Given the description of an element on the screen output the (x, y) to click on. 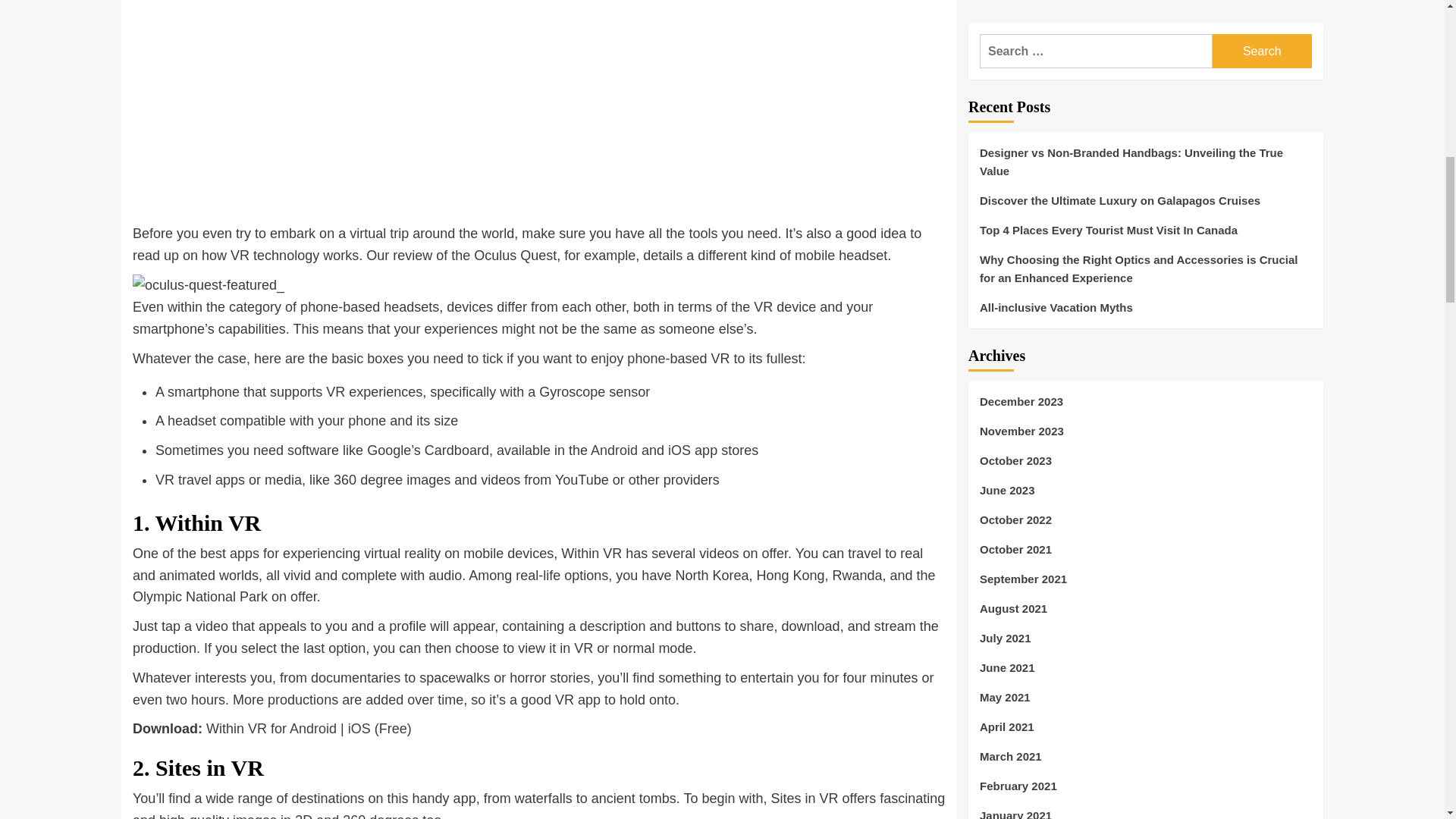
Android (312, 728)
Android (614, 450)
iOS (679, 450)
iOS (359, 728)
